Given the description of an element on the screen output the (x, y) to click on. 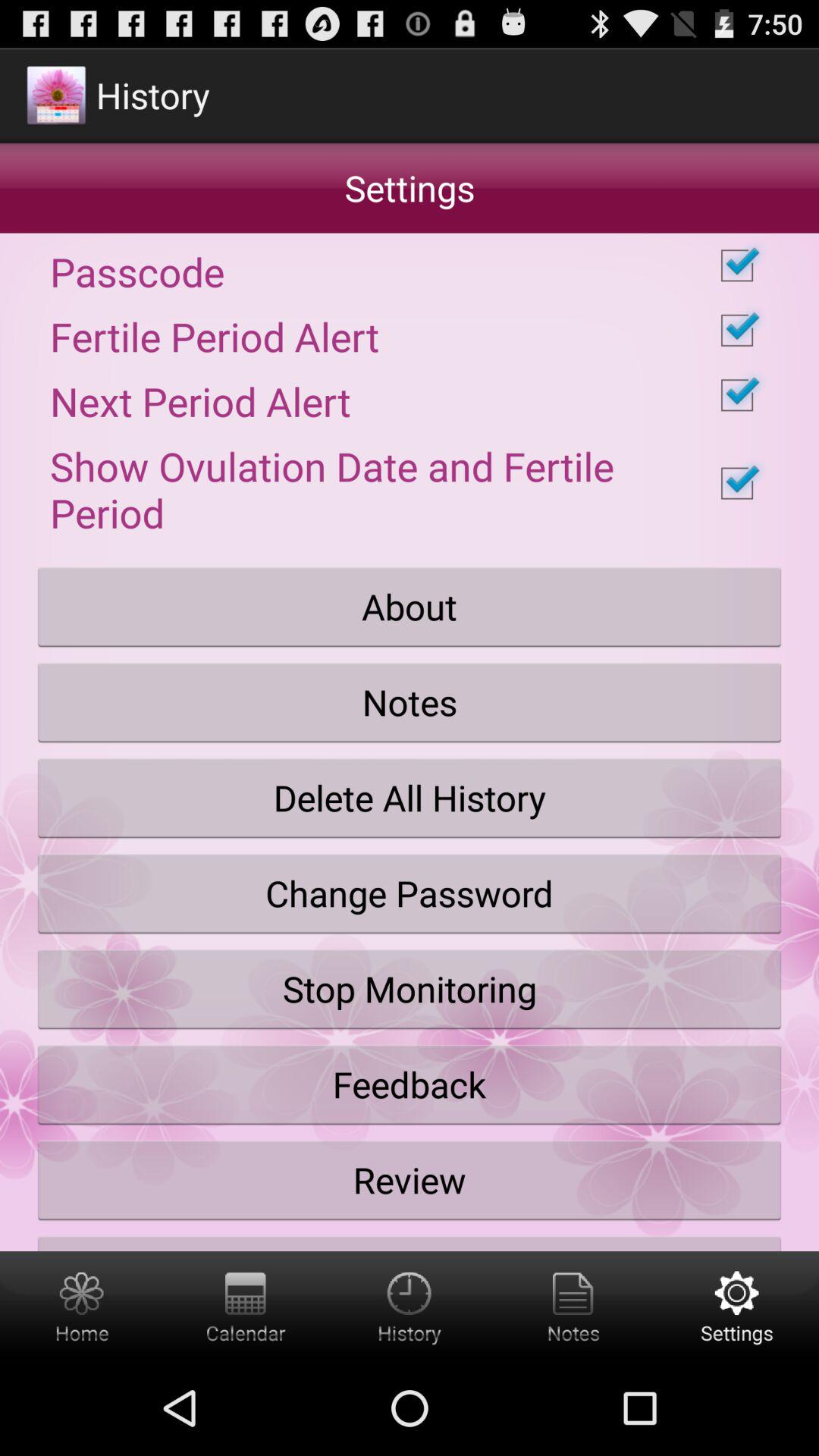
go to home (81, 1305)
